Given the description of an element on the screen output the (x, y) to click on. 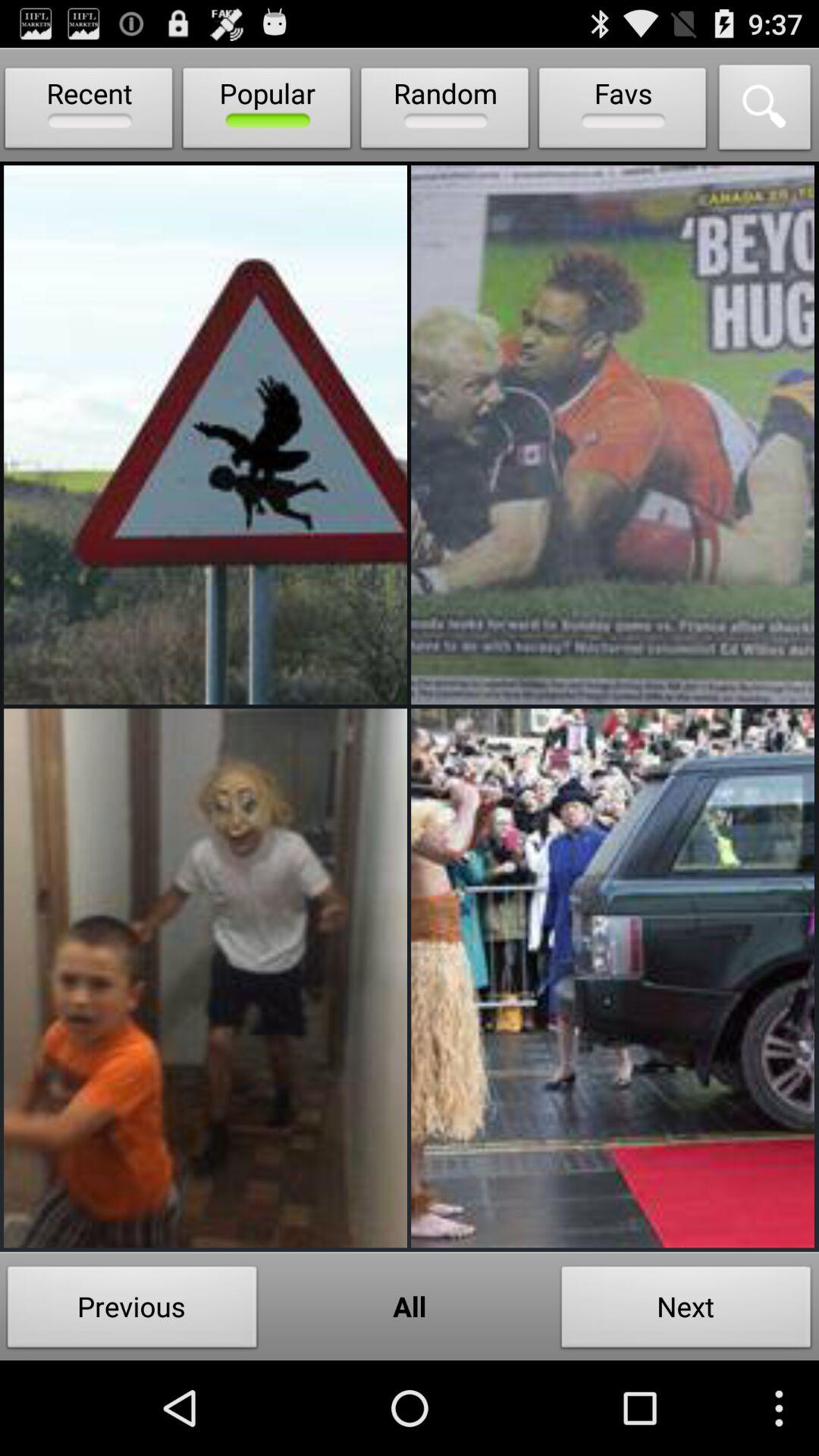
launch the icon at the top (445, 111)
